Given the description of an element on the screen output the (x, y) to click on. 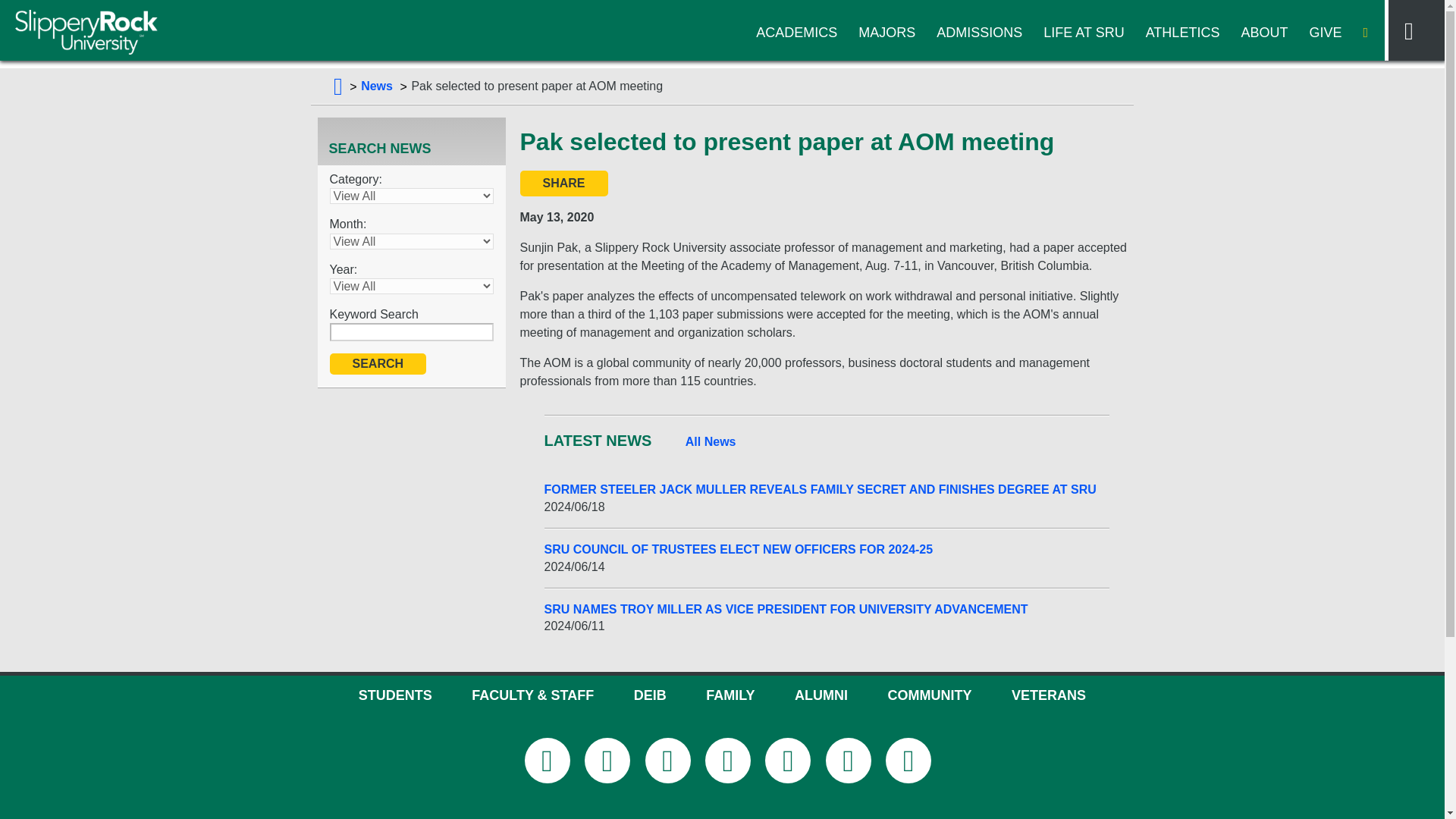
Admissions (979, 32)
LIFE AT SRU (1083, 32)
Search (377, 363)
DEIB (649, 695)
Life at SRU (1083, 32)
Athletics (1182, 32)
ABOUT (1263, 32)
FAMILY (730, 695)
SRU COUNCIL OF TRUSTEES ELECT NEW OFFICERS FOR 2024-25 (826, 549)
ADMISSIONS (979, 32)
Slippery Rock University (85, 31)
News (377, 85)
All News (710, 442)
VETERANS (1048, 695)
